Given the description of an element on the screen output the (x, y) to click on. 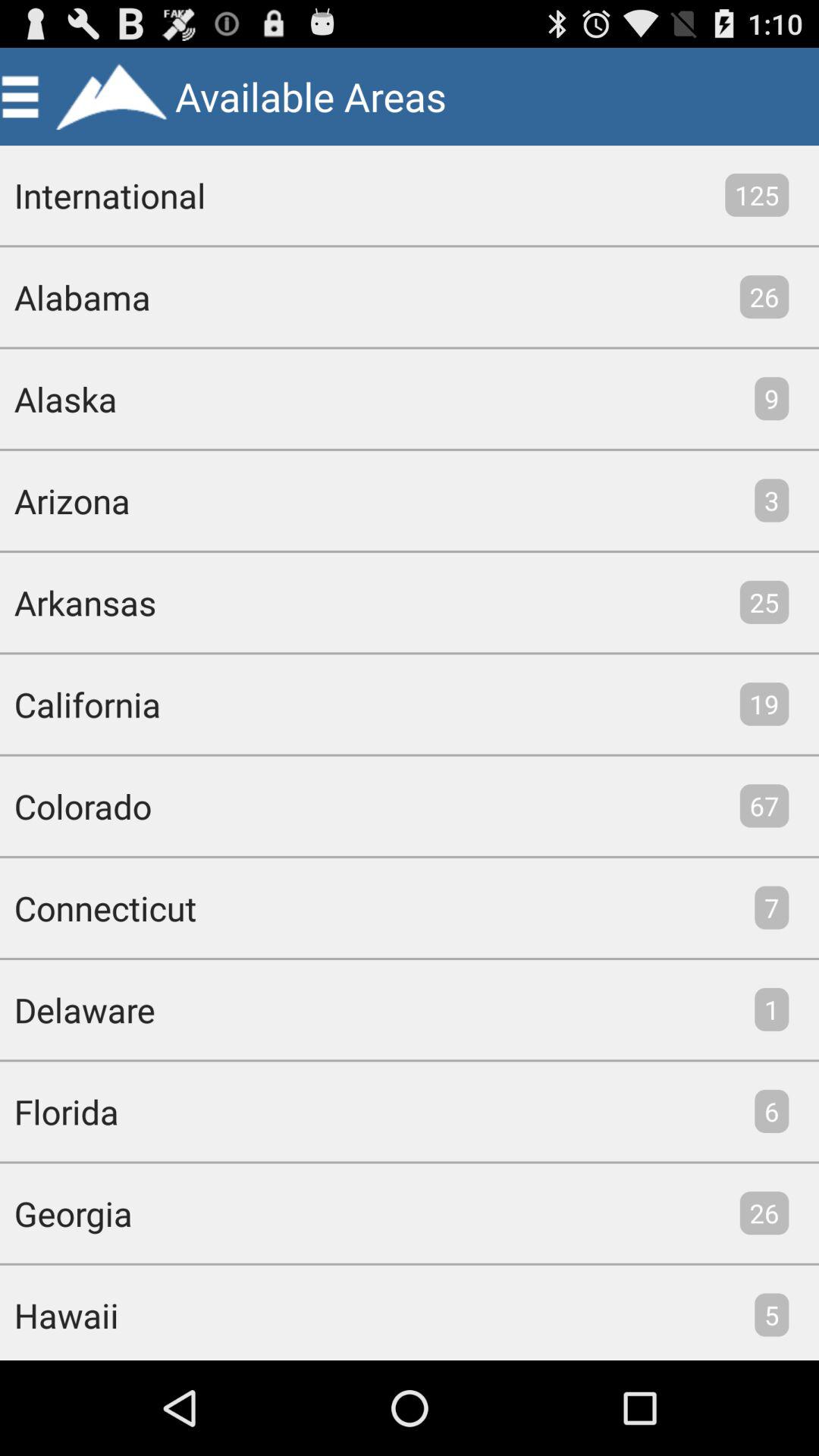
flip to 9 icon (771, 398)
